Given the description of an element on the screen output the (x, y) to click on. 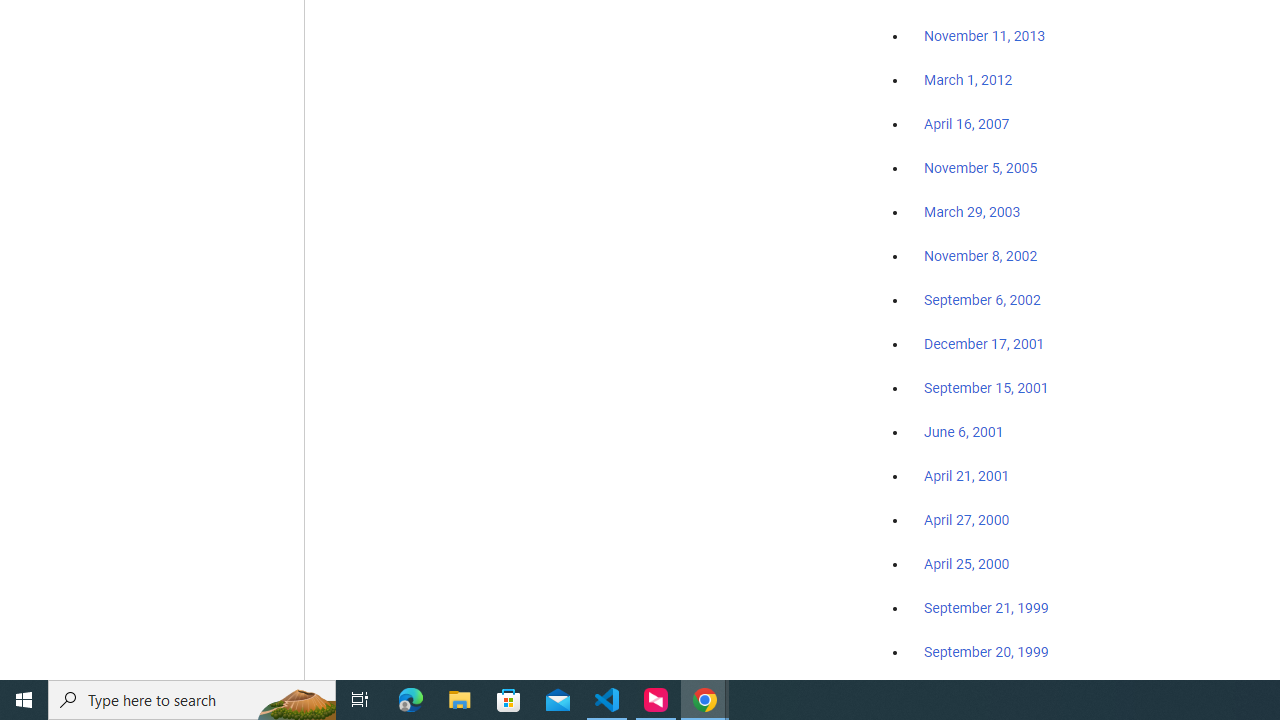
November 8, 2002 (981, 255)
April 16, 2007 (966, 124)
June 6, 2001 (963, 431)
September 15, 2001 (986, 387)
March 1, 2012 (968, 81)
September 21, 1999 (986, 608)
September 6, 2002 (982, 299)
September 20, 1999 (986, 651)
April 25, 2000 (966, 564)
December 17, 2001 (984, 343)
April 27, 2000 (966, 520)
March 29, 2003 (972, 212)
April 21, 2001 (966, 476)
November 5, 2005 (981, 168)
November 11, 2013 (984, 37)
